Given the description of an element on the screen output the (x, y) to click on. 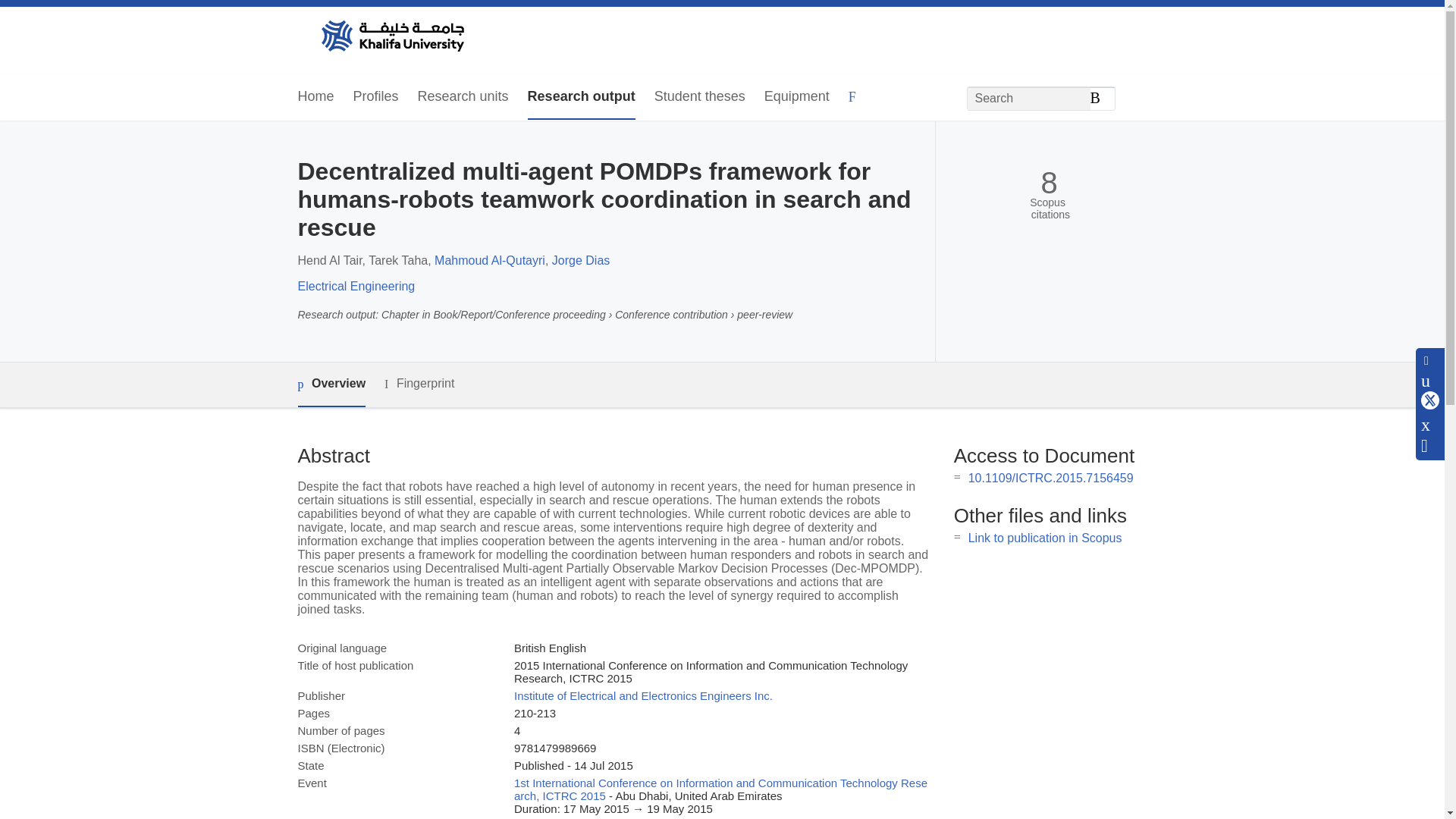
Equipment (796, 97)
Institute of Electrical and Electronics Engineers Inc. (643, 695)
Mahmoud Al-Qutayri (488, 259)
Profiles (375, 97)
Overview (331, 384)
Research units (462, 97)
Student theses (699, 97)
Research output (580, 97)
